Given the description of an element on the screen output the (x, y) to click on. 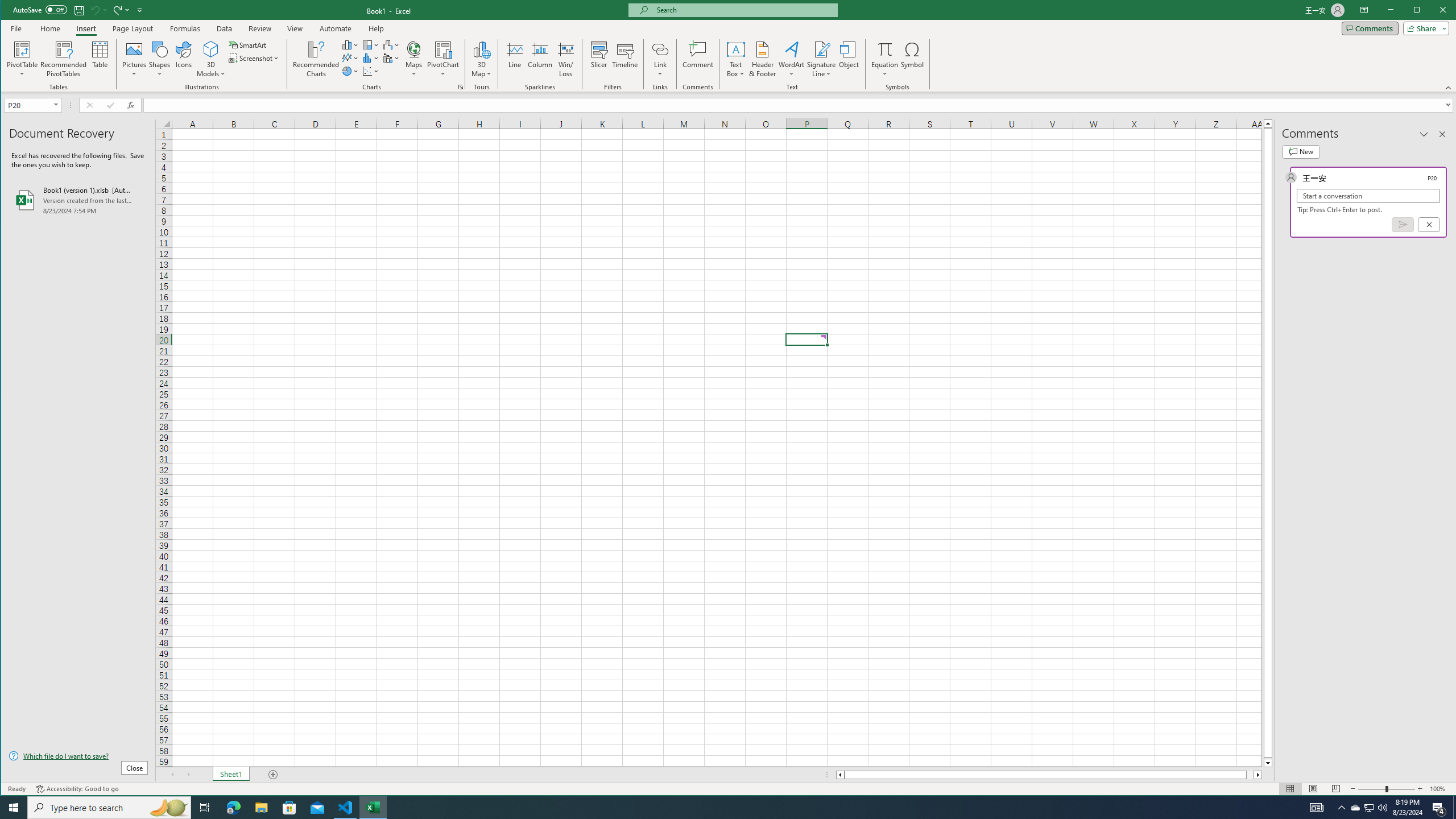
Book1 (version 1).xlsb  [AutoRecovered] (78, 199)
Link (659, 48)
Page Layout (1312, 788)
Ribbon Display Options (1364, 9)
Equation (884, 48)
Redo (116, 9)
Microsoft Edge (233, 807)
Scroll Left (172, 774)
Automate (336, 28)
Header & Footer... (762, 59)
Post comment (Ctrl + Enter) (1402, 224)
User Promoted Notification Area (1368, 807)
Comments (1369, 28)
PivotChart (443, 48)
Object... (848, 59)
